Given the description of an element on the screen output the (x, y) to click on. 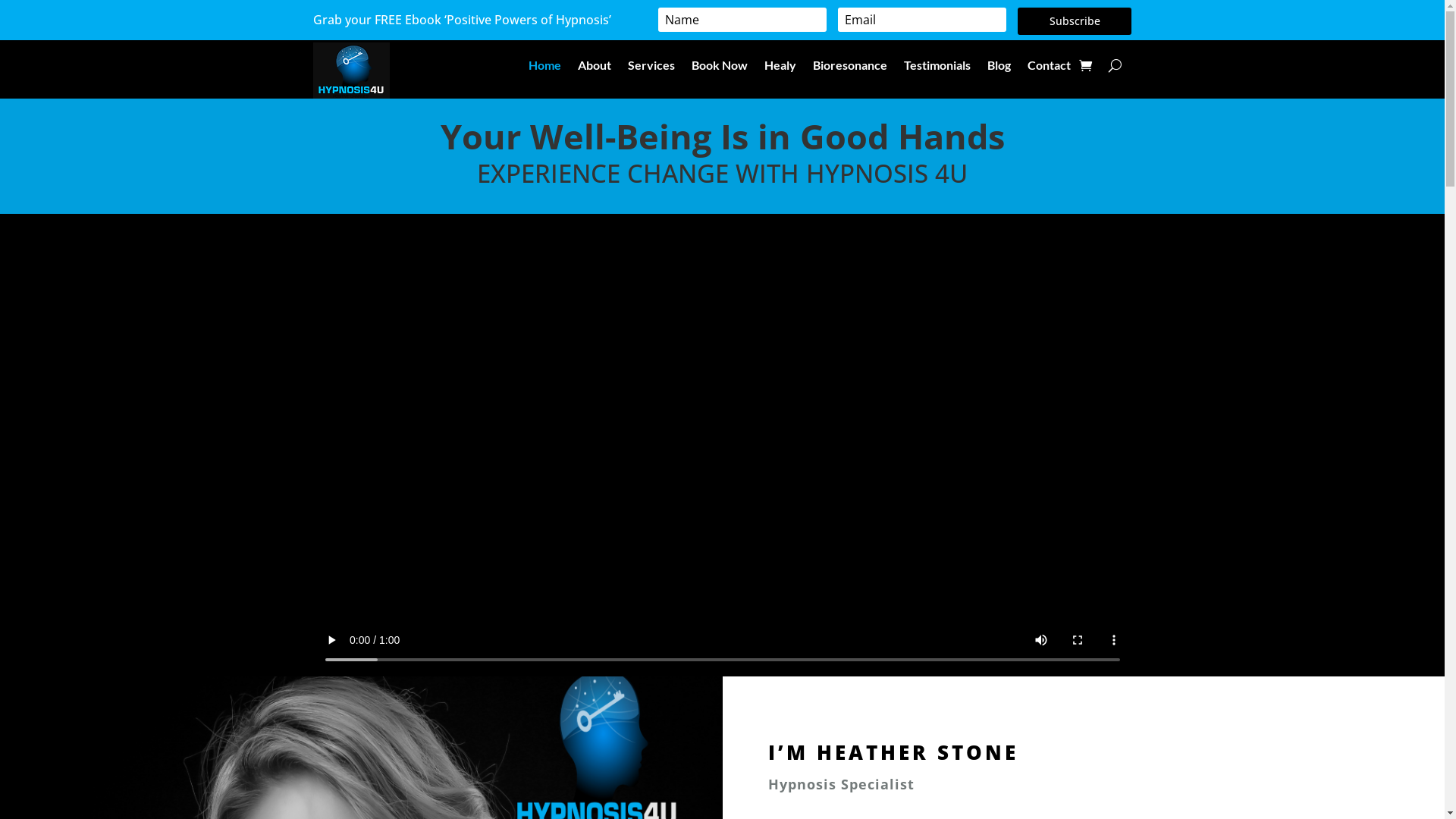
knl Element type: hover (350, 70)
Healy Element type: text (780, 67)
Testimonials Element type: text (936, 67)
Subscribe Element type: text (1074, 20)
Book Now Element type: text (719, 67)
Contact Element type: text (1048, 67)
About Element type: text (594, 67)
Home Element type: text (544, 67)
Services Element type: text (650, 67)
Blog Element type: text (998, 67)
Bioresonance Element type: text (849, 67)
